Given the description of an element on the screen output the (x, y) to click on. 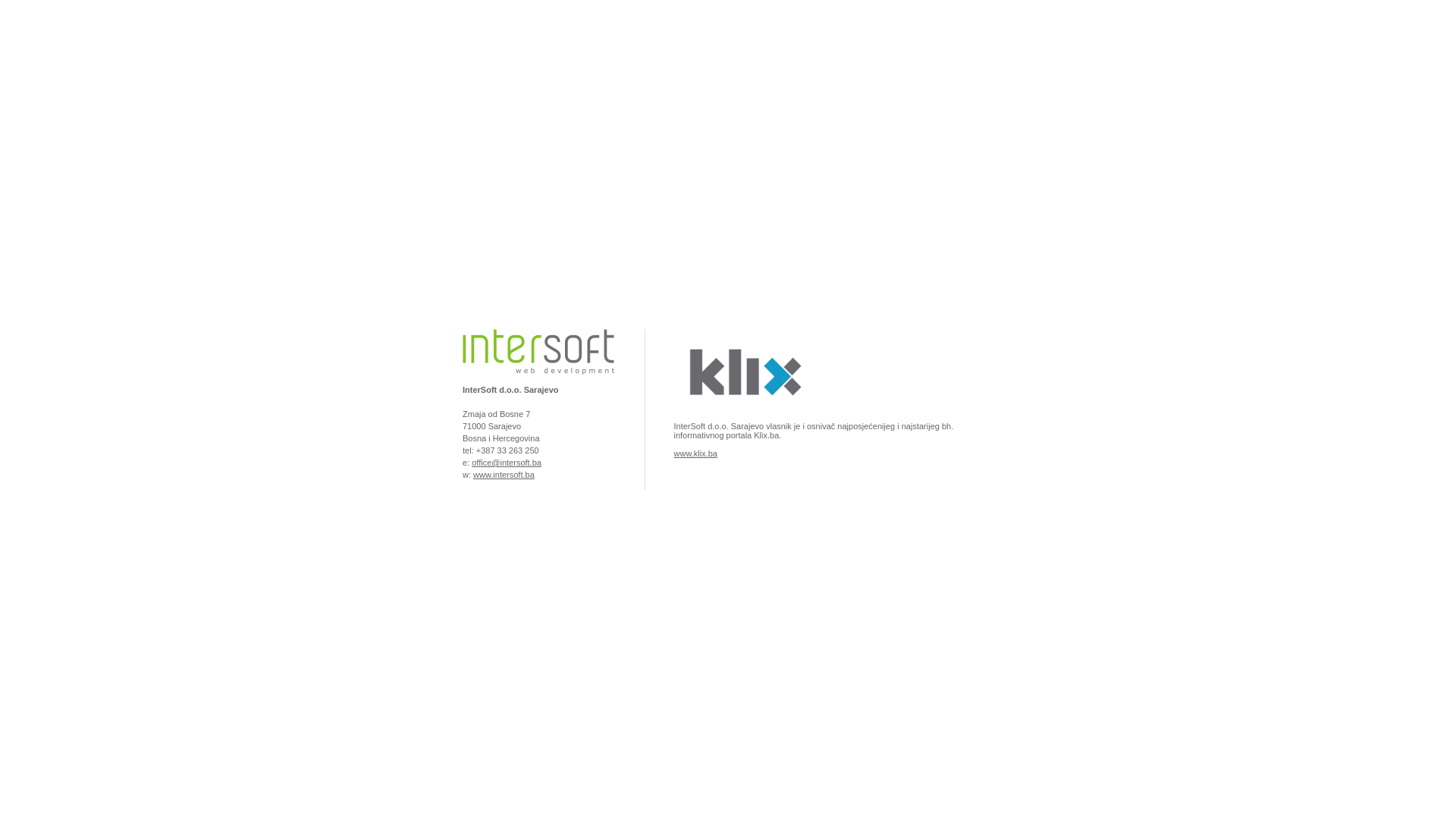
www.intersoft.ba Element type: text (503, 474)
www.klix.ba Element type: text (694, 453)
Klix.ba Element type: hover (743, 412)
office@intersoft.ba Element type: text (506, 462)
